Given the description of an element on the screen output the (x, y) to click on. 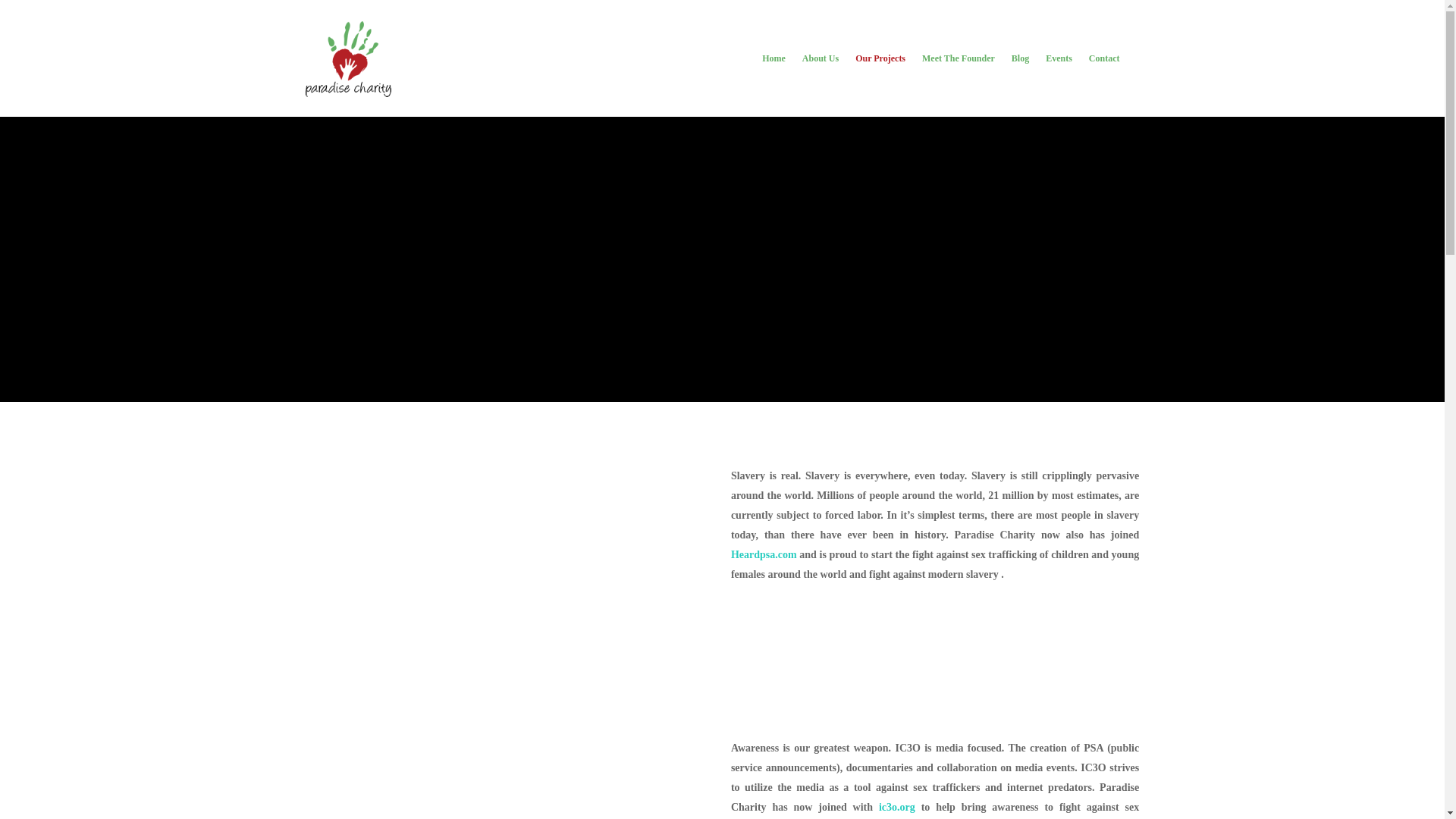
Heardpsa.com (763, 554)
Meet The Founder (958, 69)
ic3o.org (897, 807)
